Given the description of an element on the screen output the (x, y) to click on. 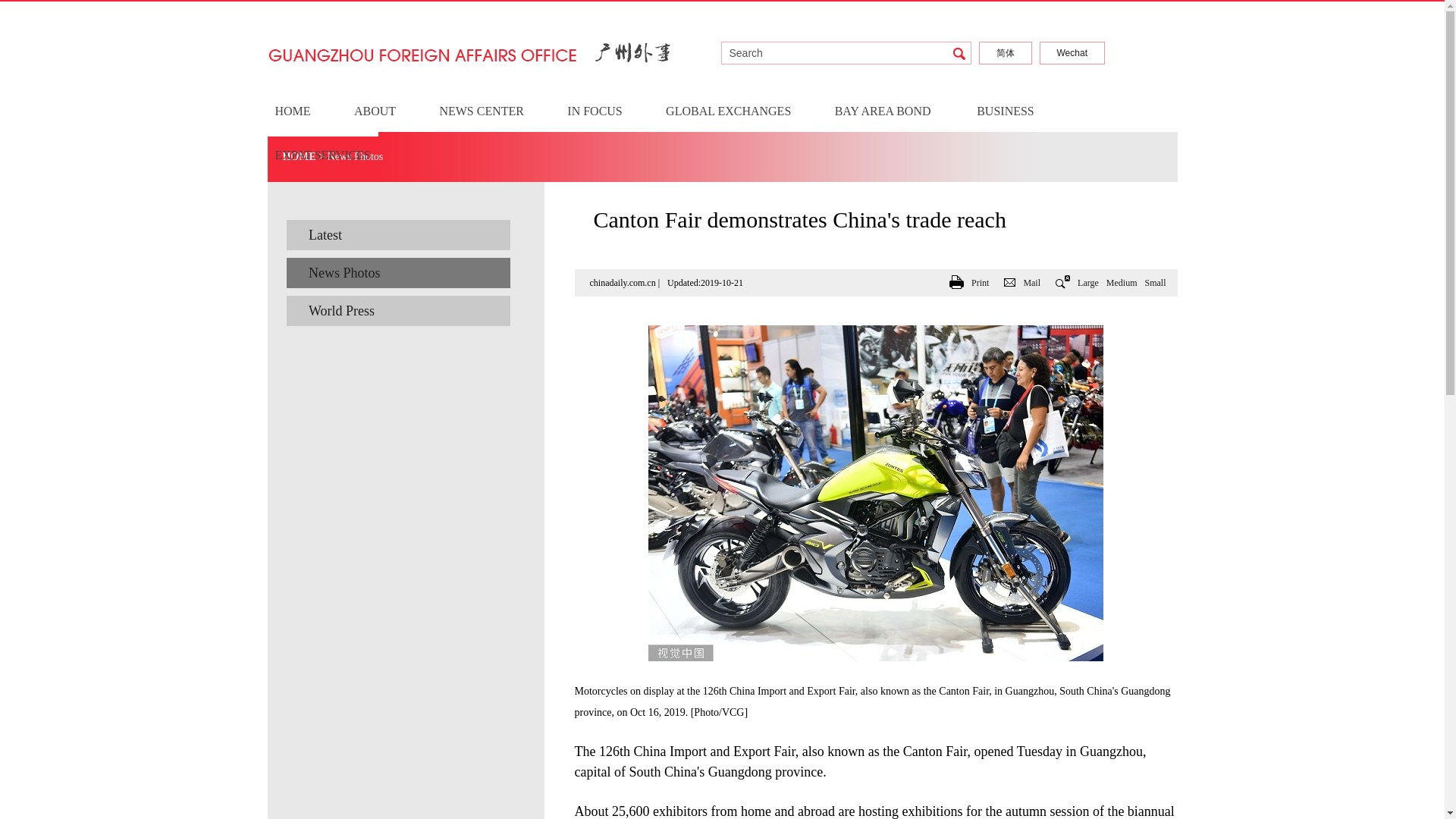
BUSINESS (1004, 111)
BAY AREA BOND (882, 111)
EXPAT SERVICES (322, 155)
IN FOCUS (594, 111)
Wechat (1072, 52)
NEWS CENTER (481, 111)
Latest (398, 235)
HOME (298, 156)
Search (850, 52)
HOME (292, 111)
ABOUT (374, 111)
search (959, 53)
GLOBAL EXCHANGES (727, 111)
